Given the description of an element on the screen output the (x, y) to click on. 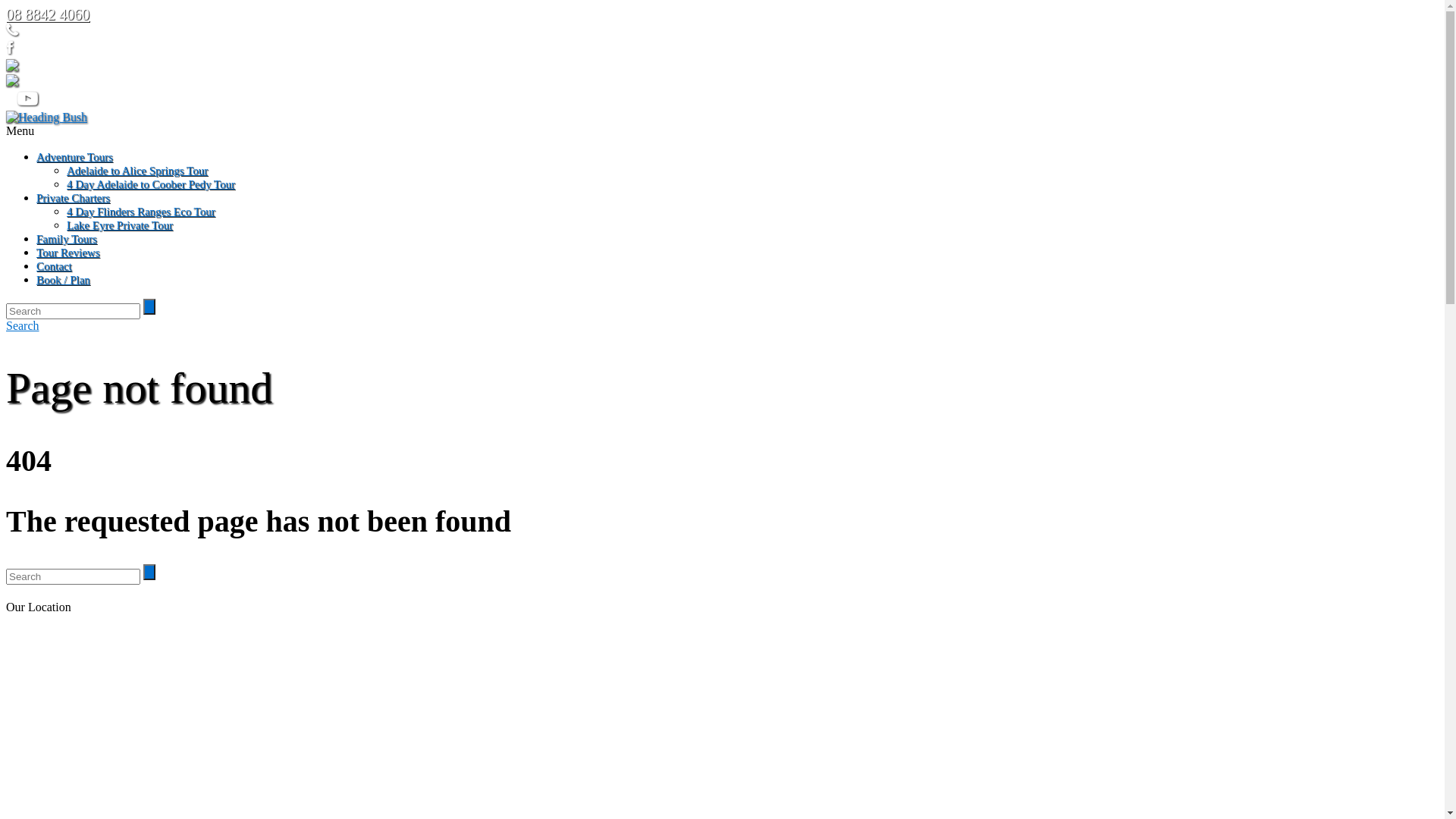
Lake Eyre Private Tour Element type: text (119, 225)
Contact Element type: text (54, 266)
4 Day Adelaide to Coober Pedy Tour Element type: text (150, 184)
08 8842 4060 Element type: text (47, 14)
Adventure Tours Element type: text (74, 156)
Adelaide to Alice Springs Tour Element type: text (136, 170)
Family Tours Element type: text (66, 238)
4 Day Flinders Ranges Eco Tour Element type: text (140, 211)
Private Charters Element type: text (72, 197)
Search Element type: text (22, 325)
Book / Plan Element type: text (63, 279)
Tour Reviews Element type: text (68, 252)
